Given the description of an element on the screen output the (x, y) to click on. 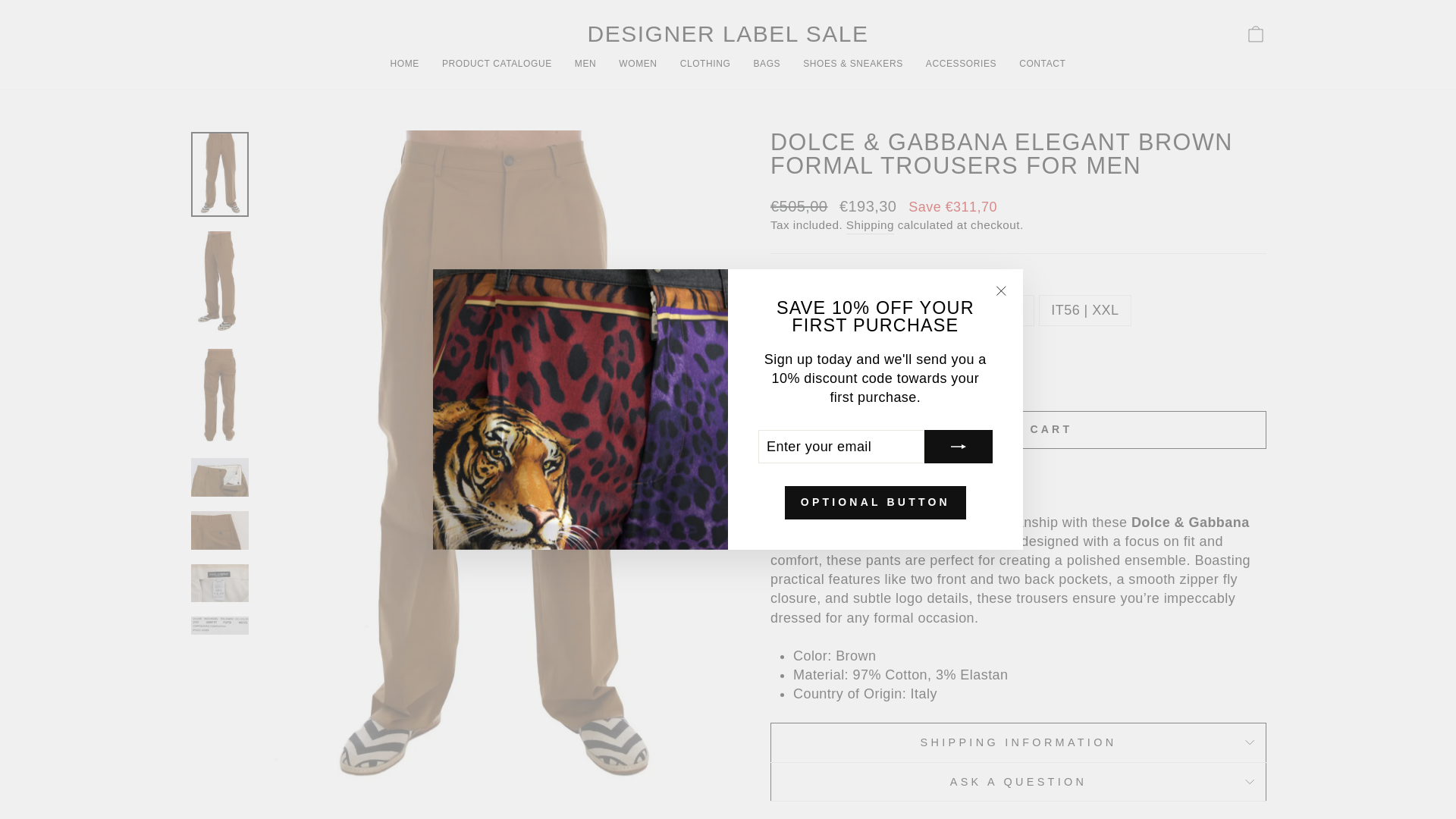
CLOTHING (705, 63)
PRODUCT CATALOGUE (496, 63)
HOME (404, 63)
icon-X (1000, 291)
MEN (585, 63)
ACCESSORIES (960, 63)
ICON-BAG-MINIMAL (1255, 34)
OPTIONAL BUTTON (875, 502)
DESIGNER LABEL SALE (1255, 34)
CONTACT (728, 33)
WOMEN (1042, 63)
BAGS (637, 63)
